Given the description of an element on the screen output the (x, y) to click on. 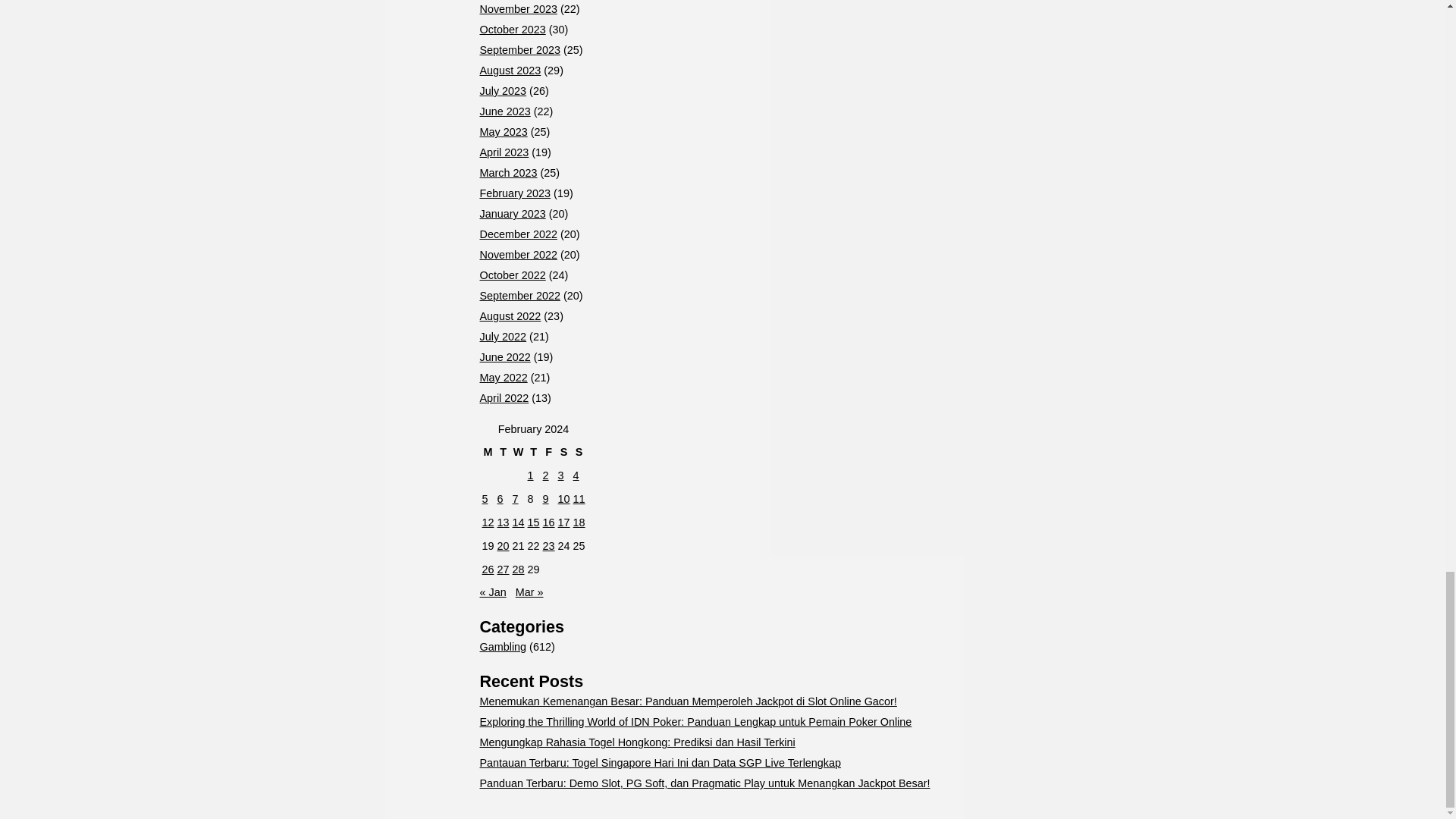
August 2022 (509, 316)
September 2022 (519, 295)
July 2022 (502, 336)
February 2023 (514, 193)
August 2023 (509, 70)
June 2022 (504, 357)
April 2023 (503, 152)
March 2023 (508, 173)
October 2023 (511, 29)
May 2023 (503, 132)
